Given the description of an element on the screen output the (x, y) to click on. 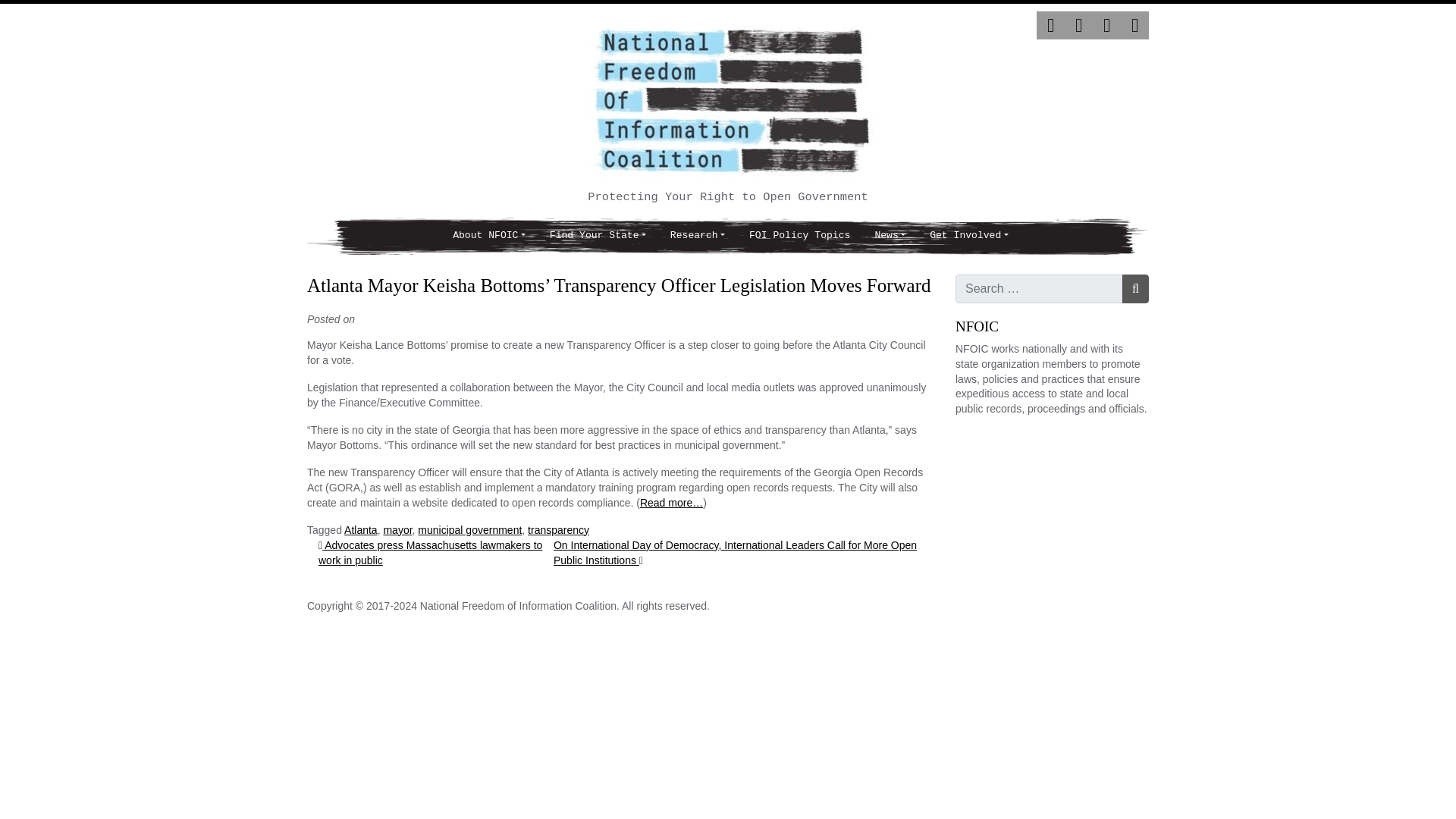
FOI Policy Topics (798, 235)
mayor (397, 530)
Find Your State (597, 235)
News (889, 235)
Twitter (1050, 25)
YouTube (1134, 25)
Instagram (1107, 25)
Find Your State (597, 235)
Get Involved (968, 235)
Research (697, 235)
Facebook (1078, 25)
About NFOIC (489, 235)
About NFOIC (489, 235)
Atlanta (360, 530)
